Given the description of an element on the screen output the (x, y) to click on. 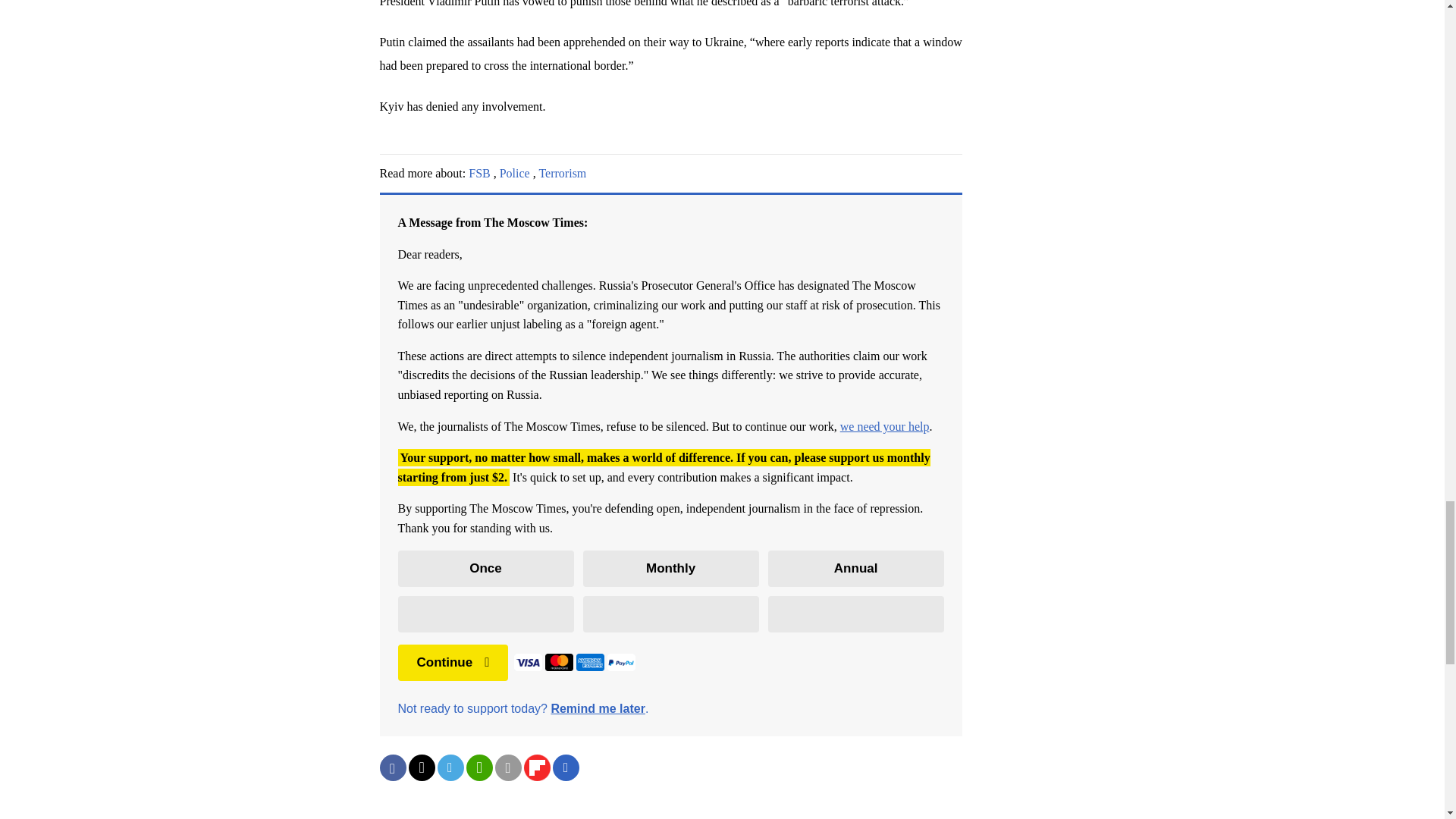
FSB (478, 173)
Share on Twitter (420, 767)
Share on Telegram (449, 767)
Terrorism (562, 173)
Share on Facebook (392, 767)
Police (514, 173)
we need your help (885, 426)
